Given the description of an element on the screen output the (x, y) to click on. 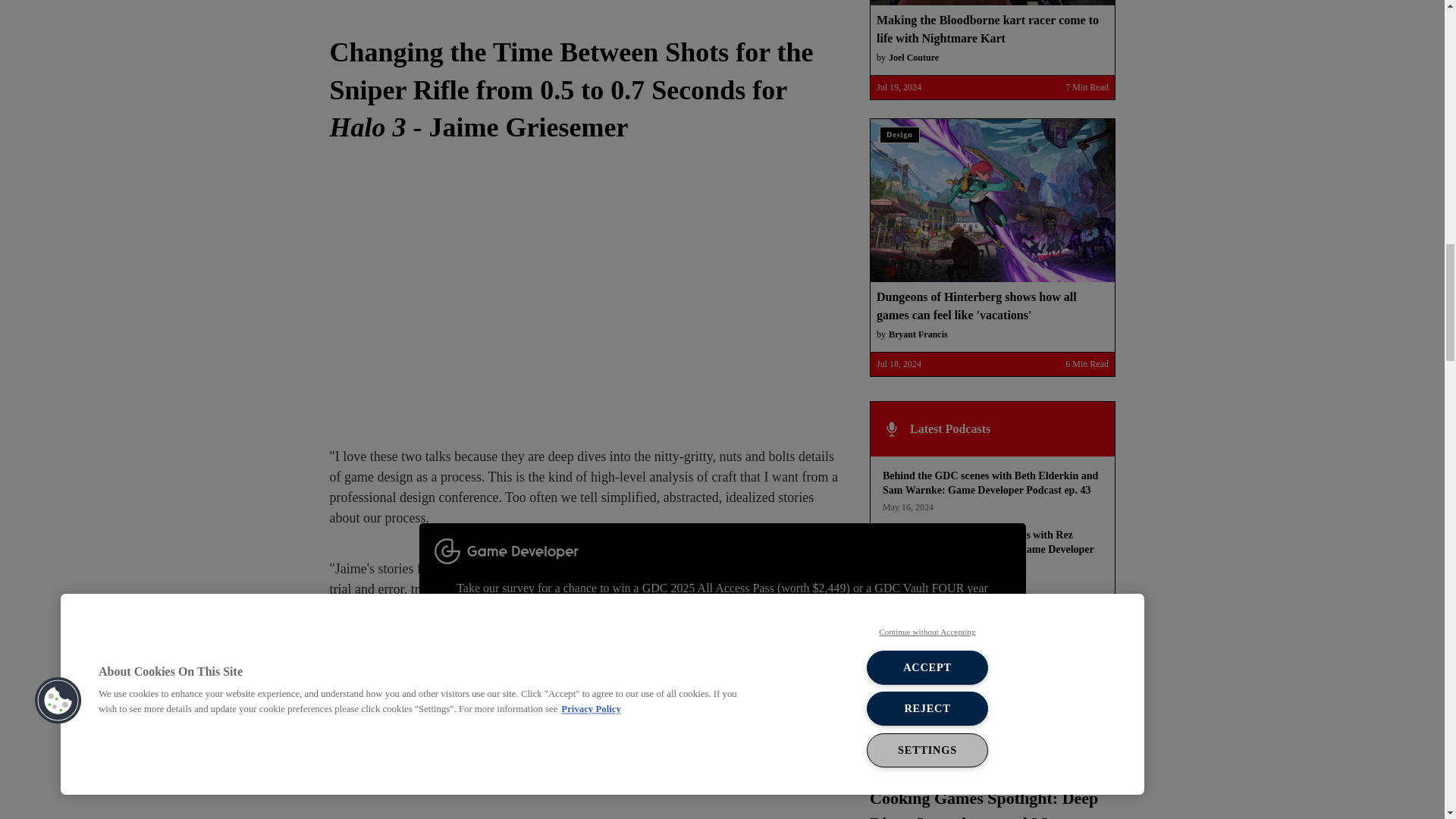
Embedded content (586, 778)
Embedded content (586, 296)
